Given the description of an element on the screen output the (x, y) to click on. 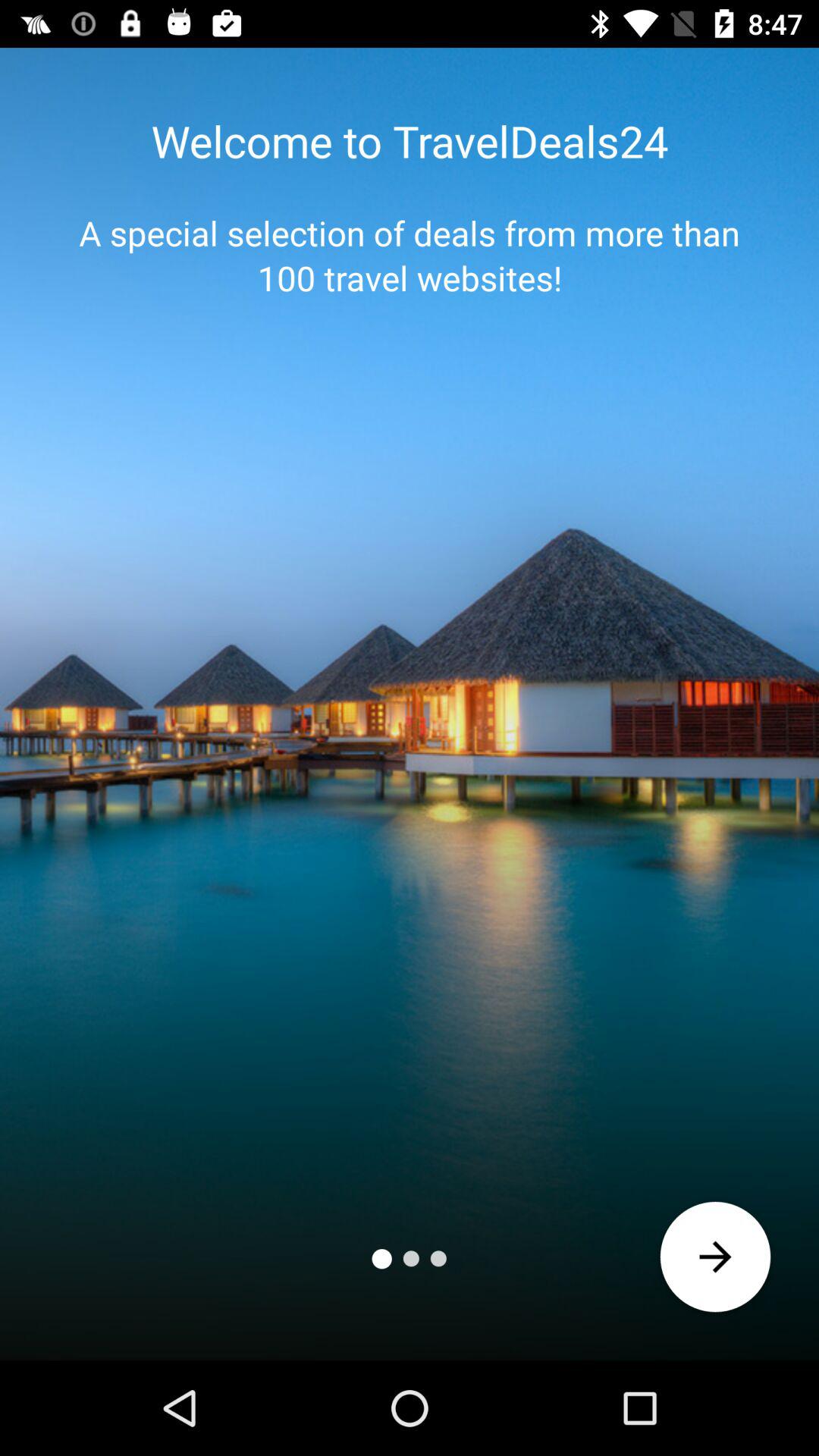
open item below the a special selection app (715, 1256)
